Given the description of an element on the screen output the (x, y) to click on. 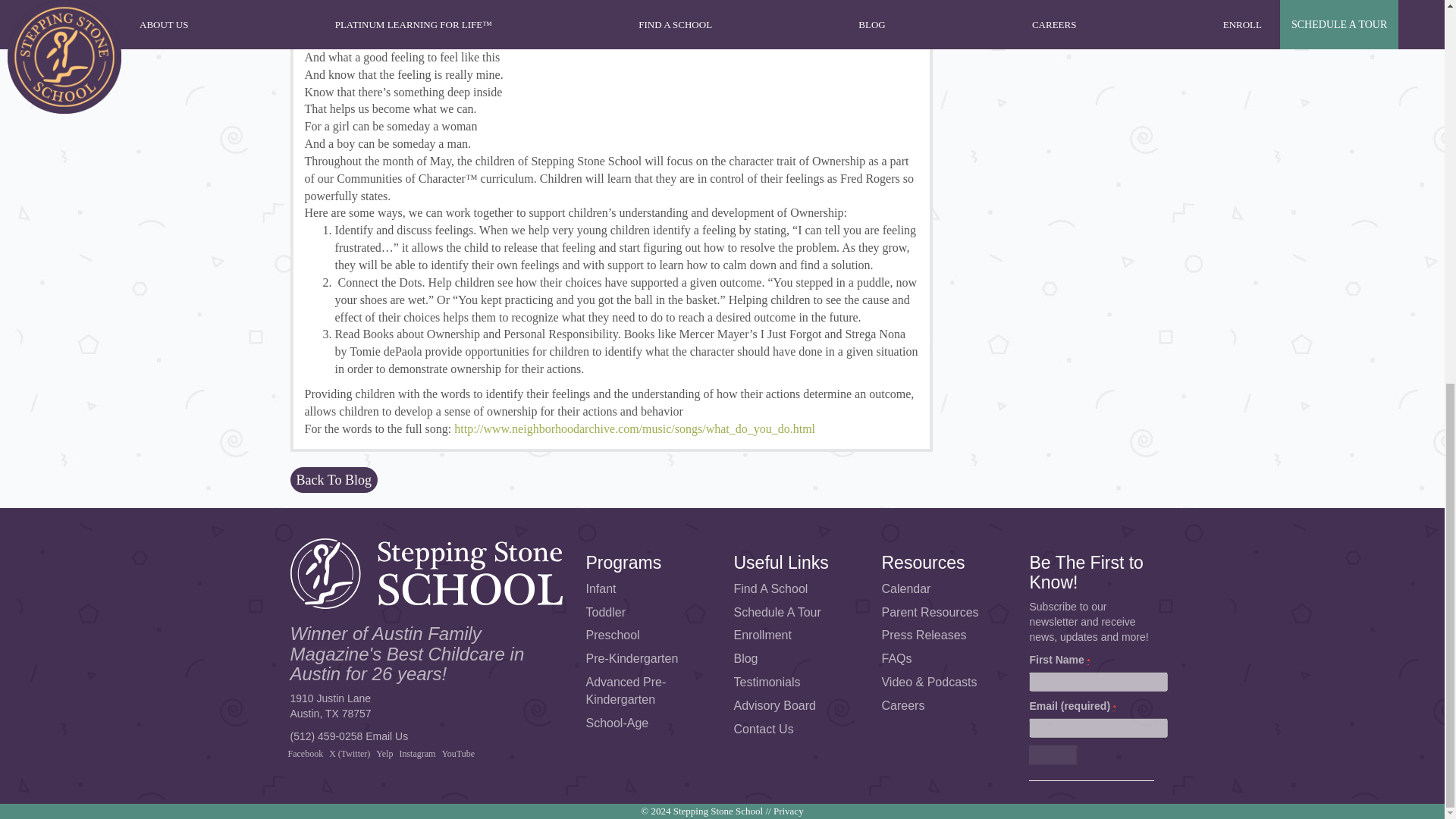
Sign up (1053, 754)
